Given the description of an element on the screen output the (x, y) to click on. 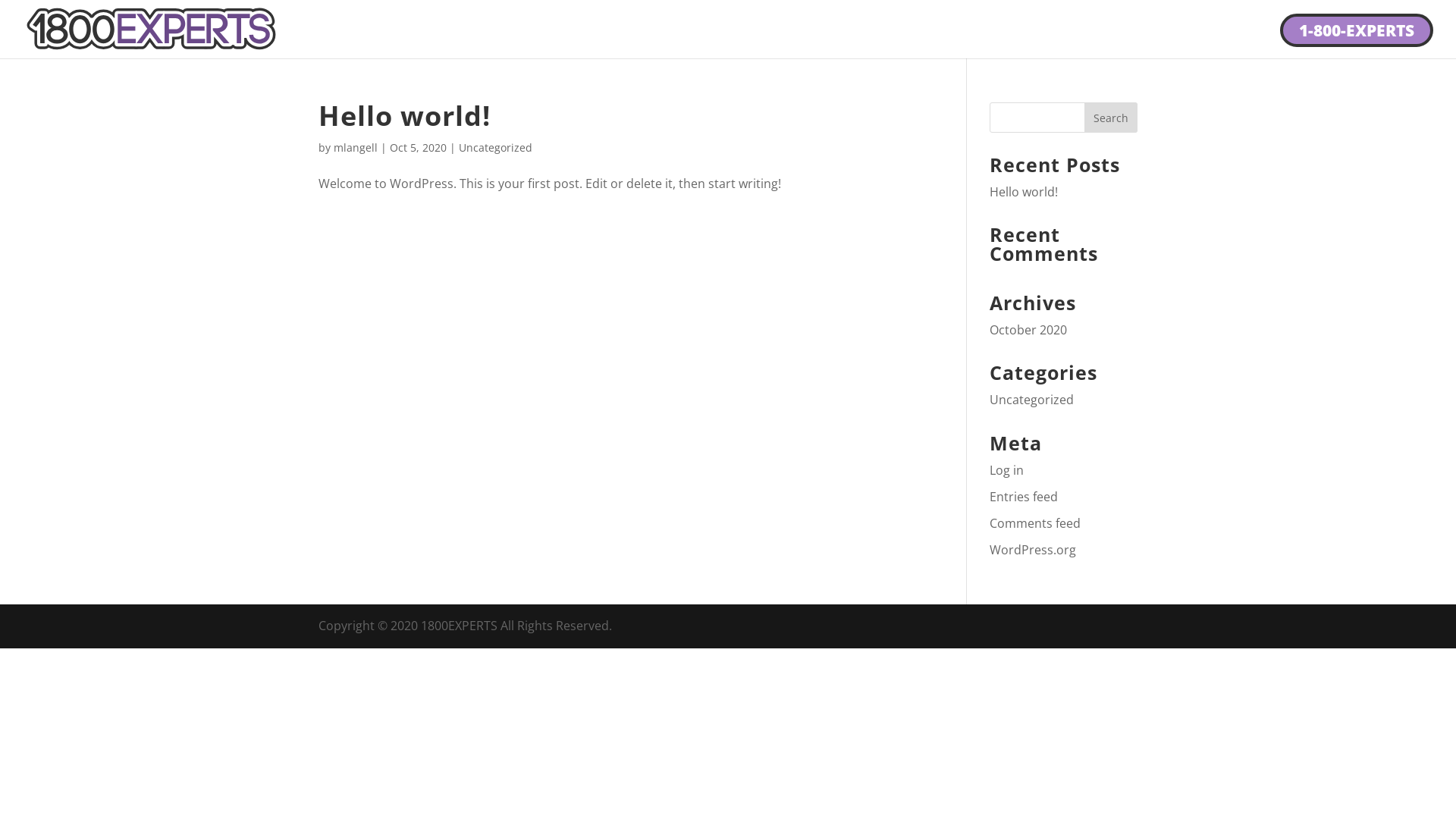
Uncategorized Element type: text (495, 147)
mlangell Element type: text (355, 147)
1-800-EXPERTS Element type: text (1356, 30)
Hello world! Element type: text (1023, 191)
October 2020 Element type: text (1027, 329)
Search Element type: text (1110, 117)
WordPress.org Element type: text (1032, 549)
Comments feed Element type: text (1034, 522)
Entries feed Element type: text (1023, 496)
Hello world! Element type: text (404, 115)
Uncategorized Element type: text (1031, 399)
Log in Element type: text (1006, 469)
